Given the description of an element on the screen output the (x, y) to click on. 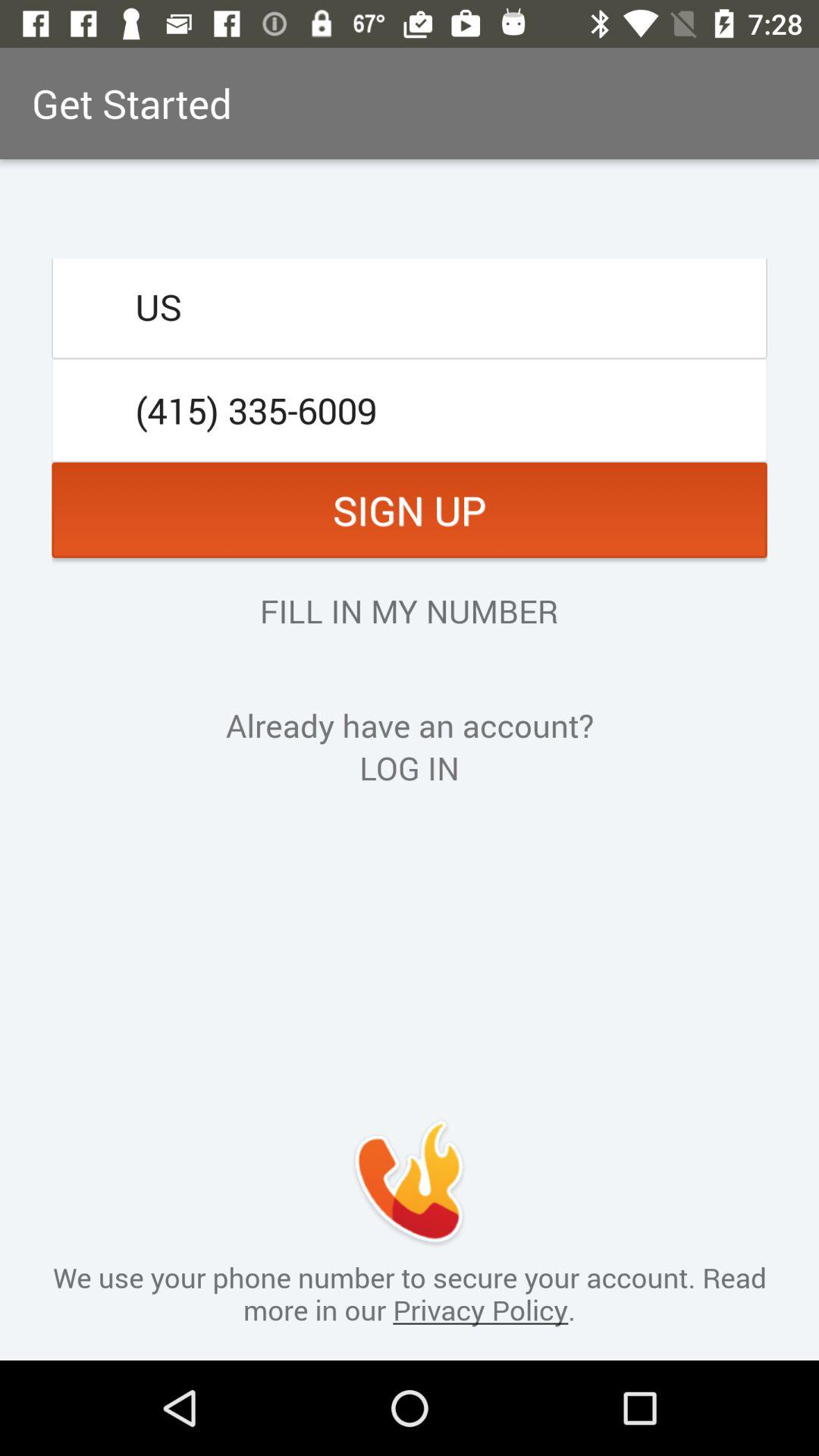
turn off the item below the get started item (409, 306)
